Given the description of an element on the screen output the (x, y) to click on. 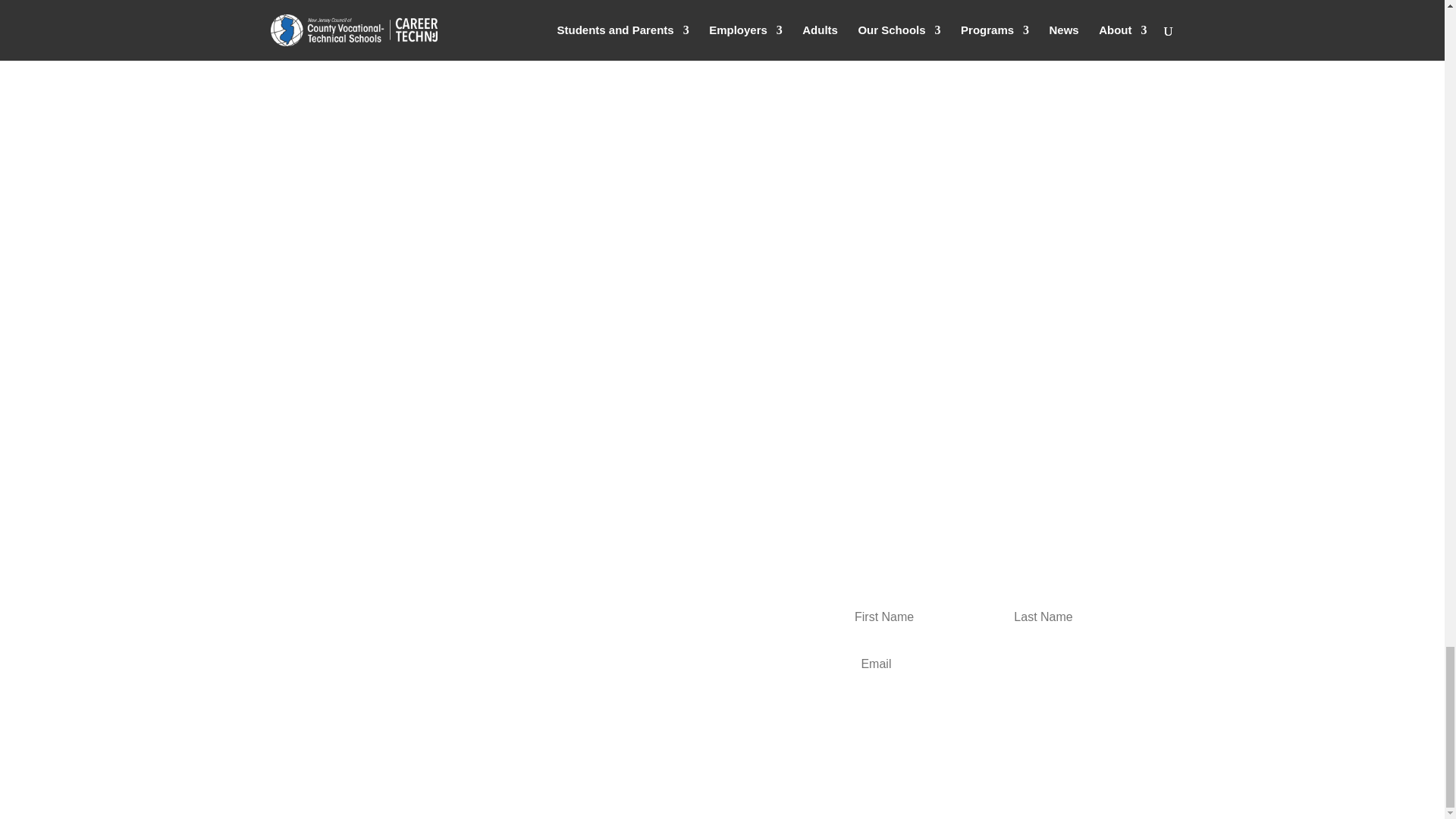
Follow on LinkedIn (339, 661)
Follow on X (309, 661)
Follow on Facebook (278, 661)
Follow on Youtube (369, 661)
